Given the description of an element on the screen output the (x, y) to click on. 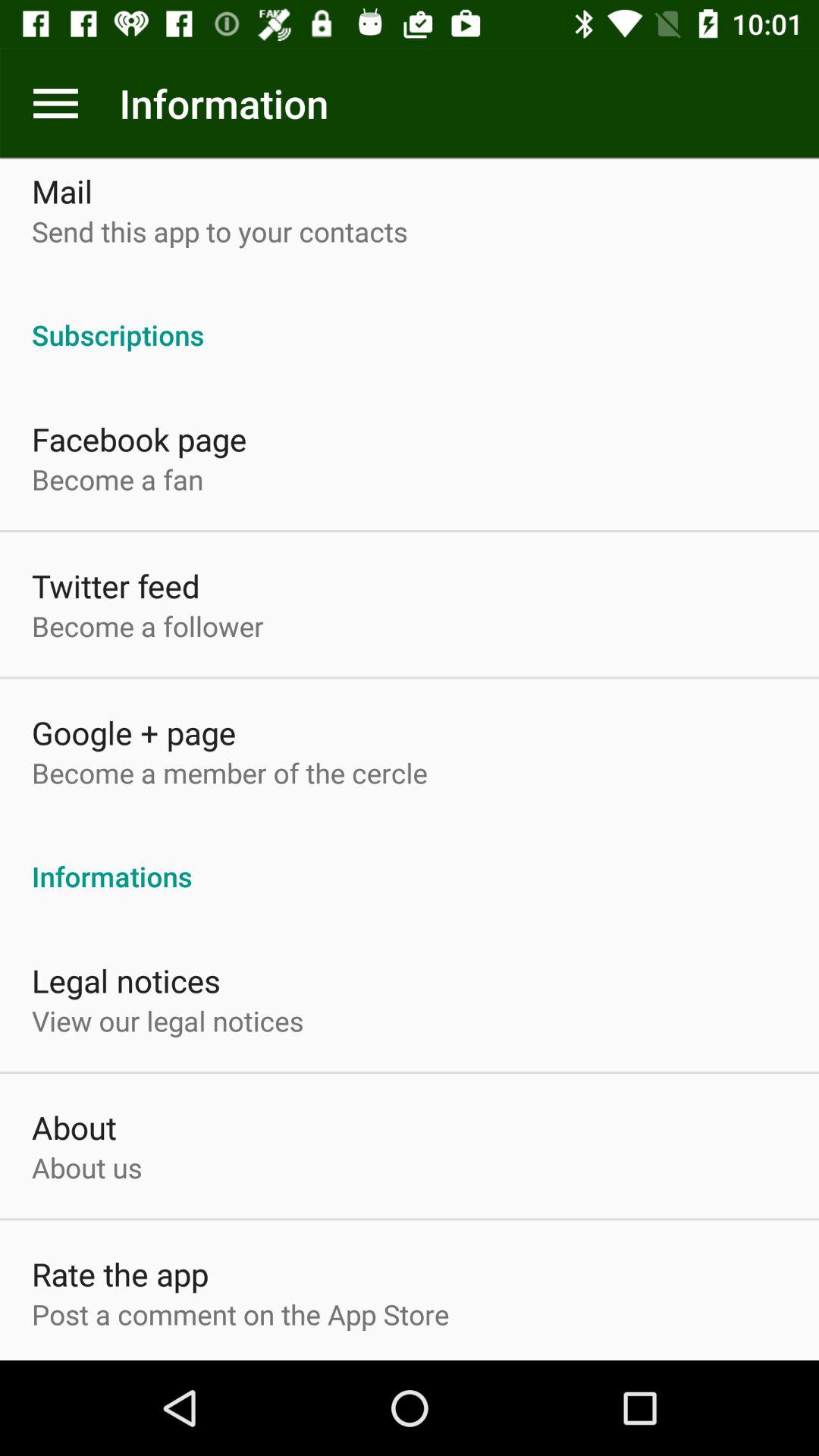
open item at the center (409, 860)
